Given the description of an element on the screen output the (x, y) to click on. 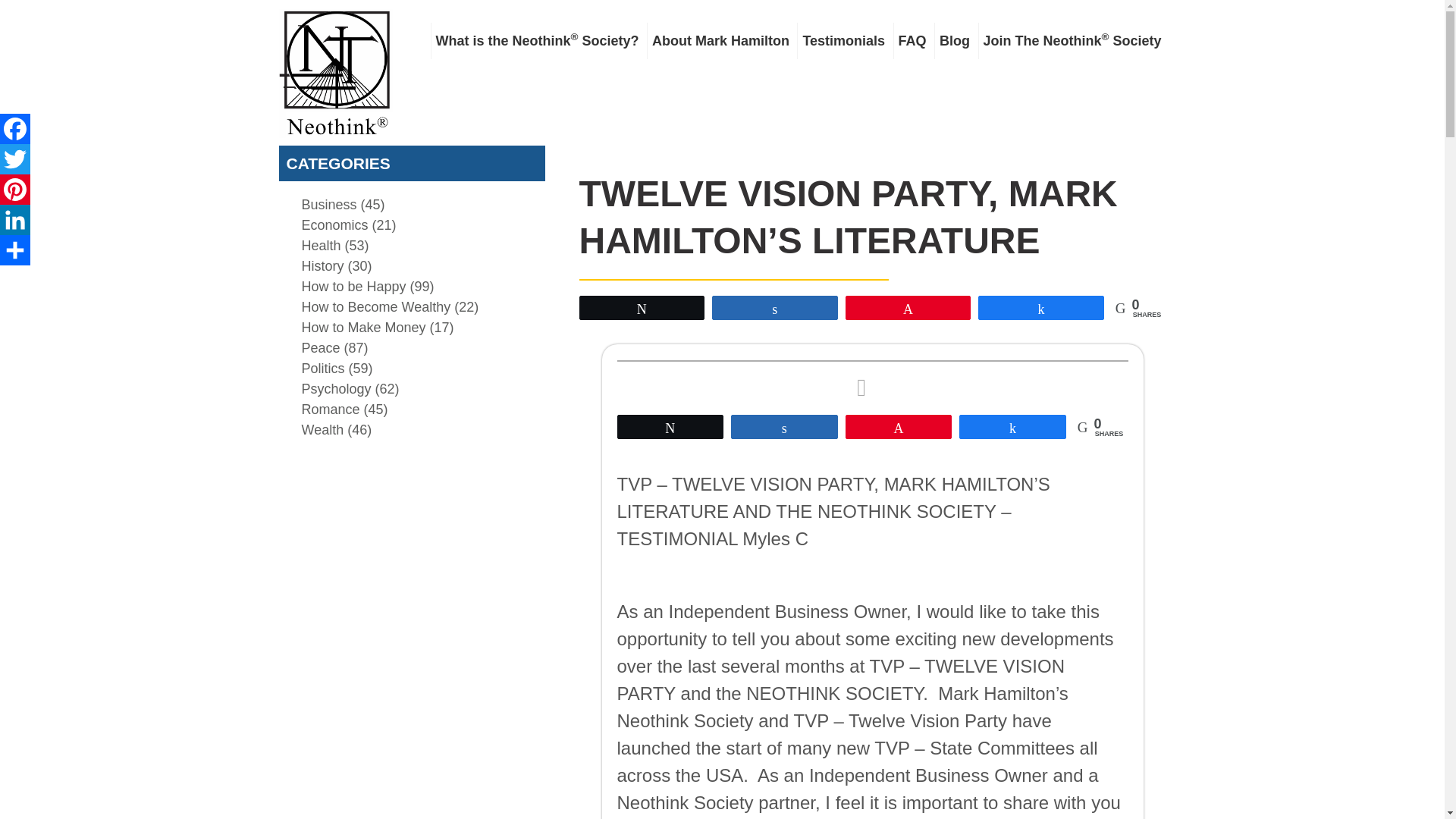
Economics (334, 224)
Facebook (15, 128)
Peace (320, 347)
Twitter (15, 159)
About Mark Hamilton (719, 40)
How to be Happy (353, 286)
Psychology (336, 388)
Health (320, 245)
Wealth (322, 429)
Pinterest (15, 189)
How to Make Money (363, 327)
History (322, 265)
FAQ (912, 40)
Testimonials (842, 40)
